Given the description of an element on the screen output the (x, y) to click on. 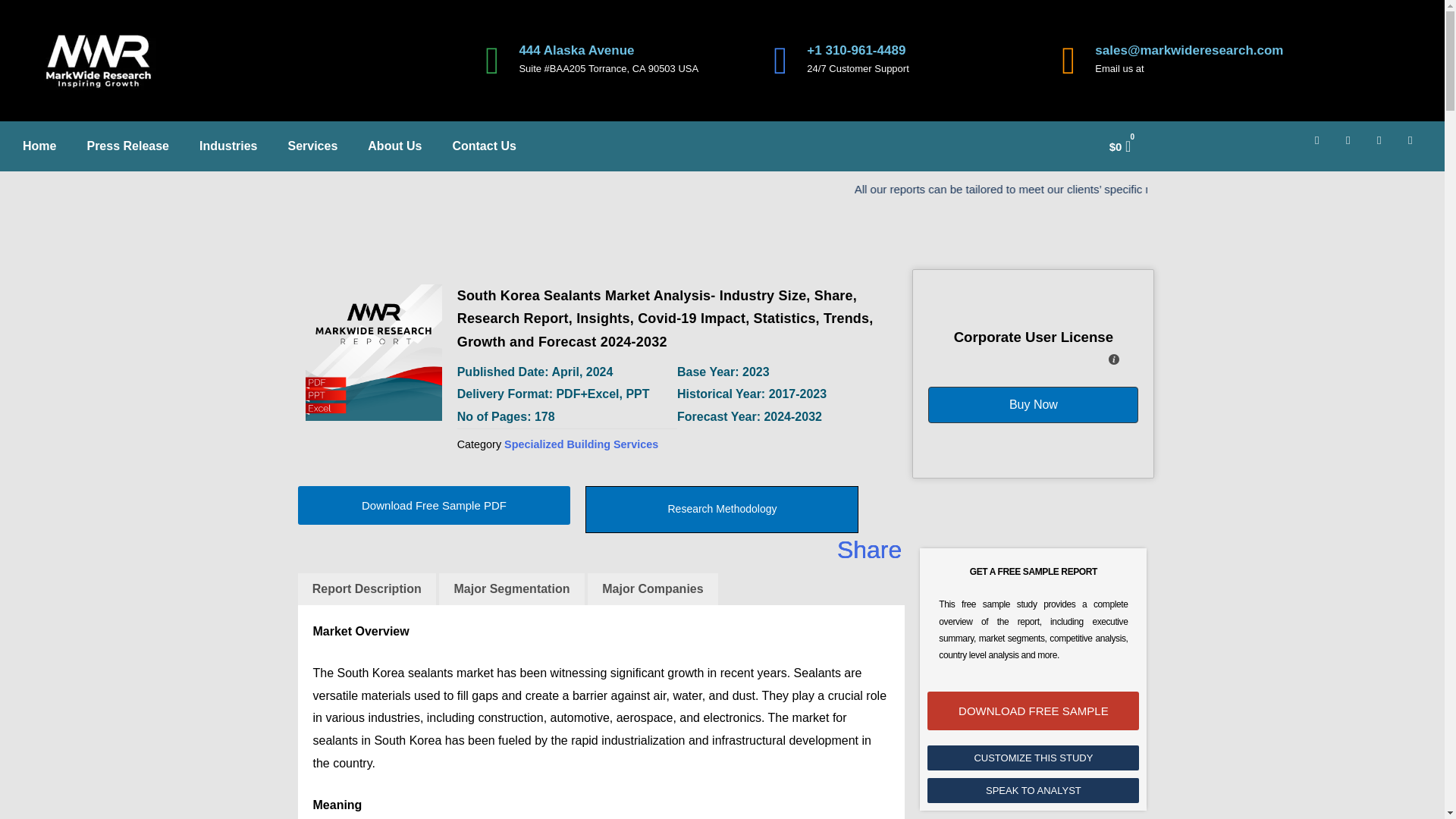
Linkedin-in (1353, 146)
About Us (394, 145)
Contact Us (483, 145)
Markwide Research (372, 352)
Industries (228, 145)
Facebook-f (1322, 146)
Research Methodology (722, 509)
Press Release (127, 145)
Services (312, 145)
Home (39, 145)
